Given the description of an element on the screen output the (x, y) to click on. 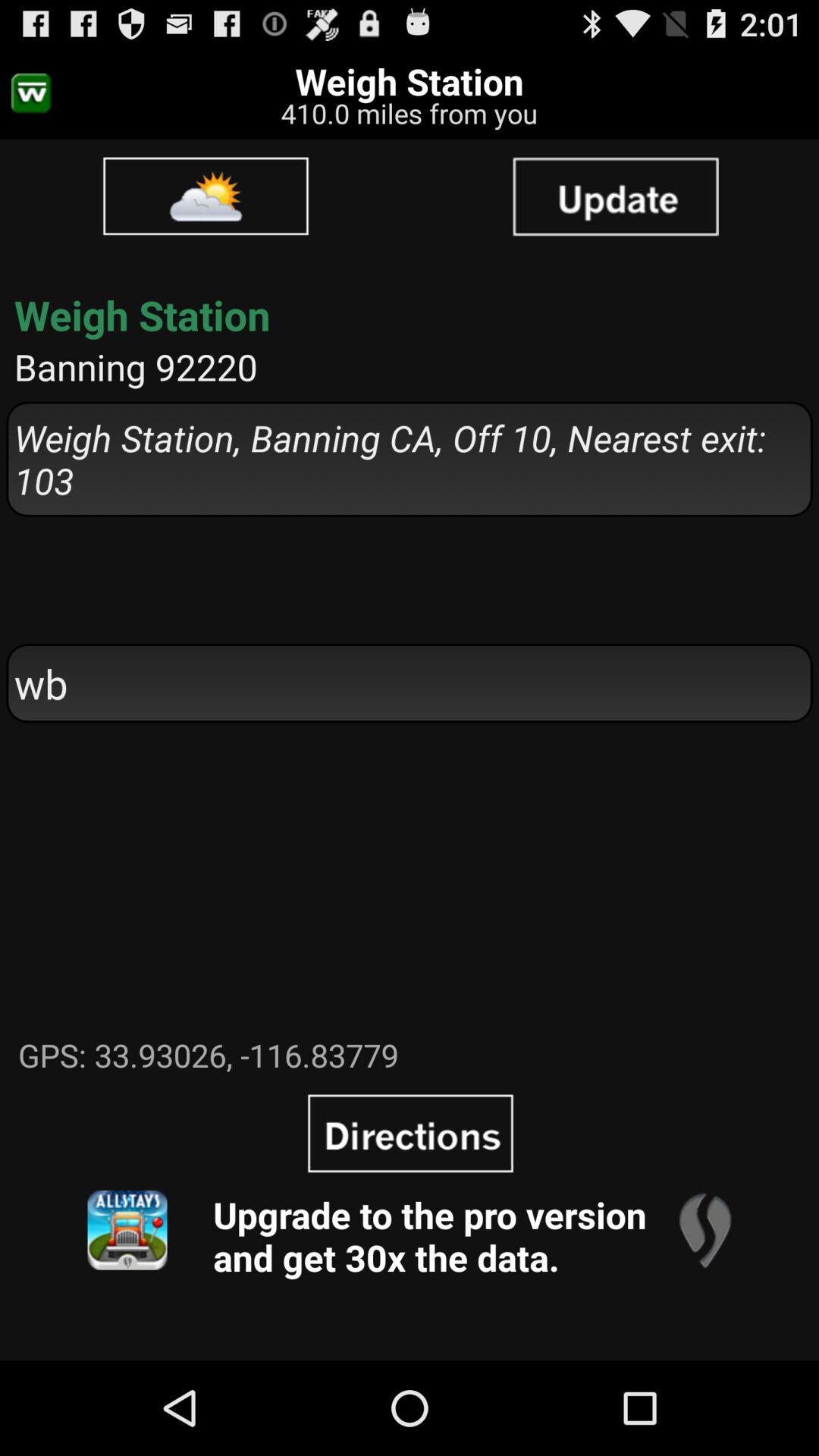
press icon above upgrade to the (410, 1133)
